Given the description of an element on the screen output the (x, y) to click on. 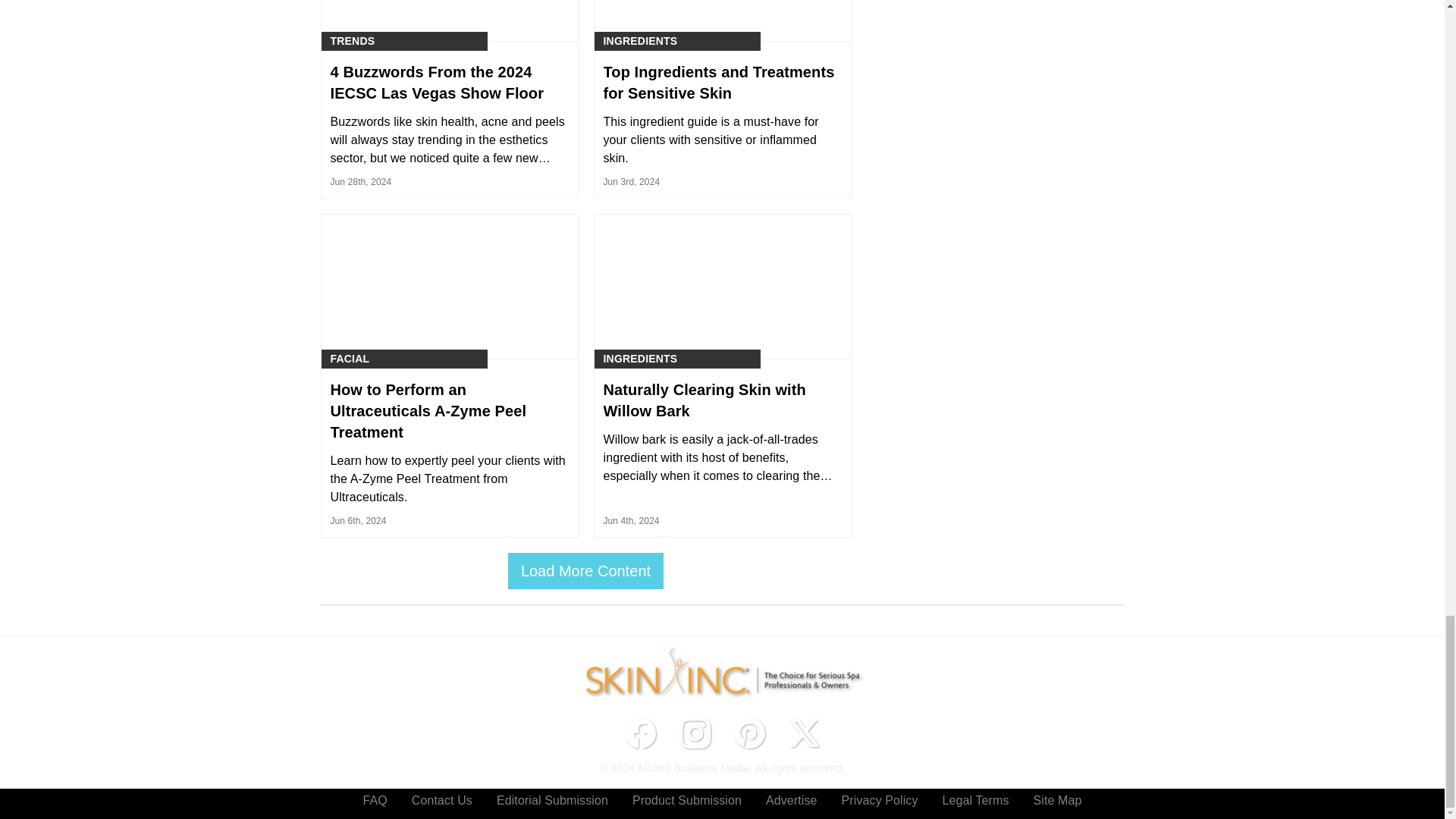
Twitter X icon (803, 733)
Instagram icon (694, 733)
Pinterest icon (748, 733)
Facebook icon (639, 733)
